Given the description of an element on the screen output the (x, y) to click on. 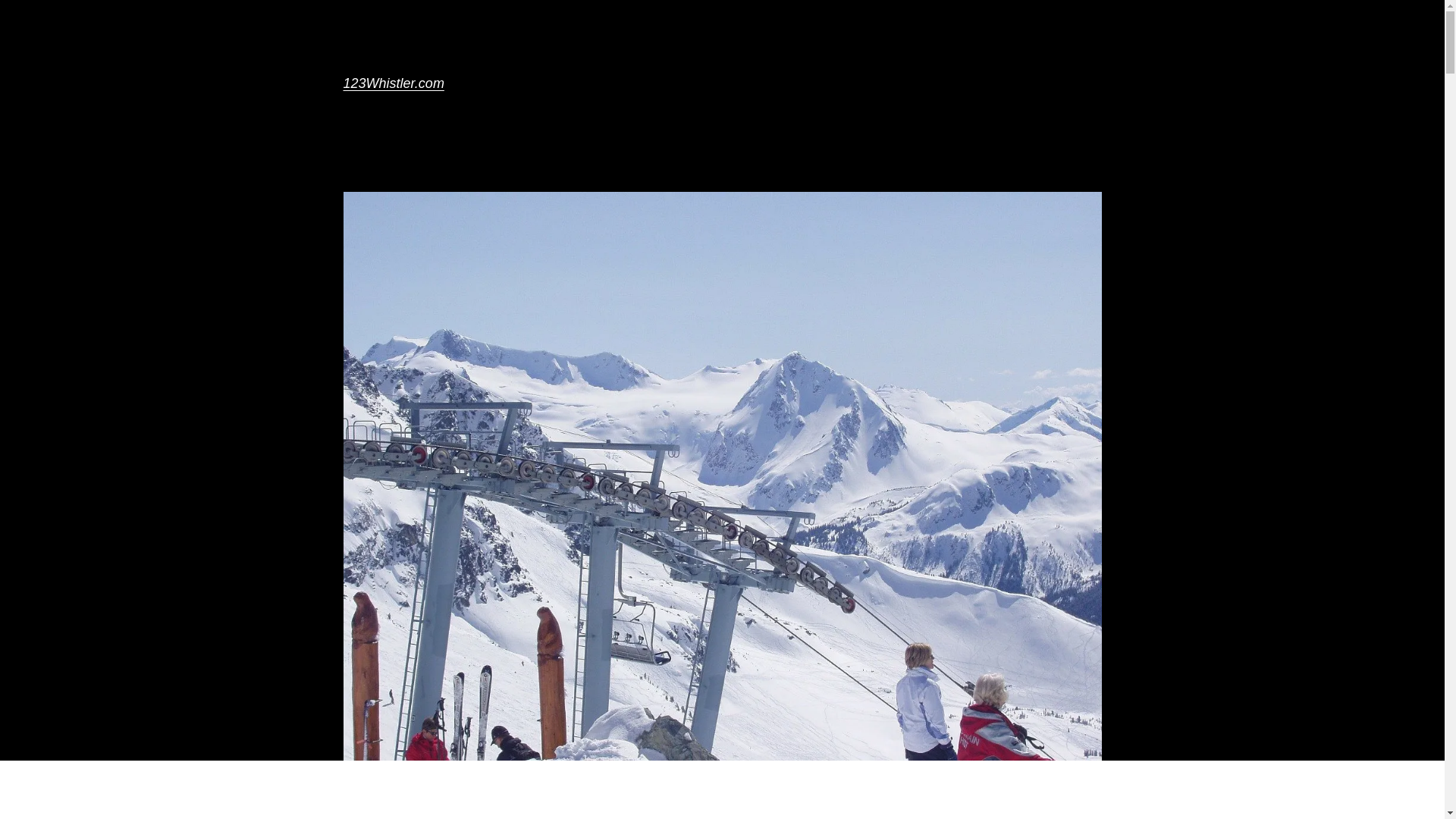
123Whistler.com Element type: text (392, 83)
